Given the description of an element on the screen output the (x, y) to click on. 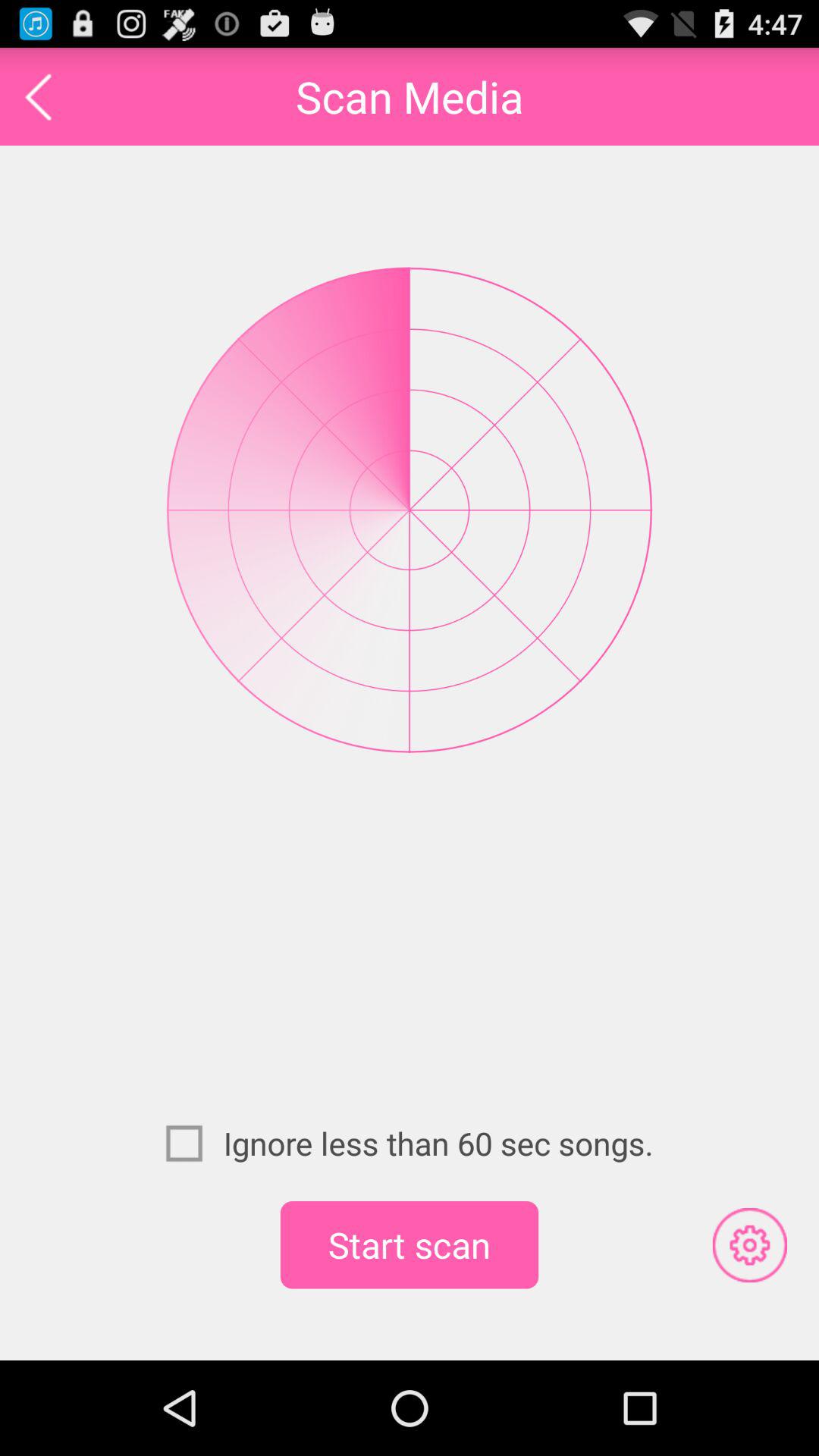
select the item below ignore less than item (409, 1244)
